Given the description of an element on the screen output the (x, y) to click on. 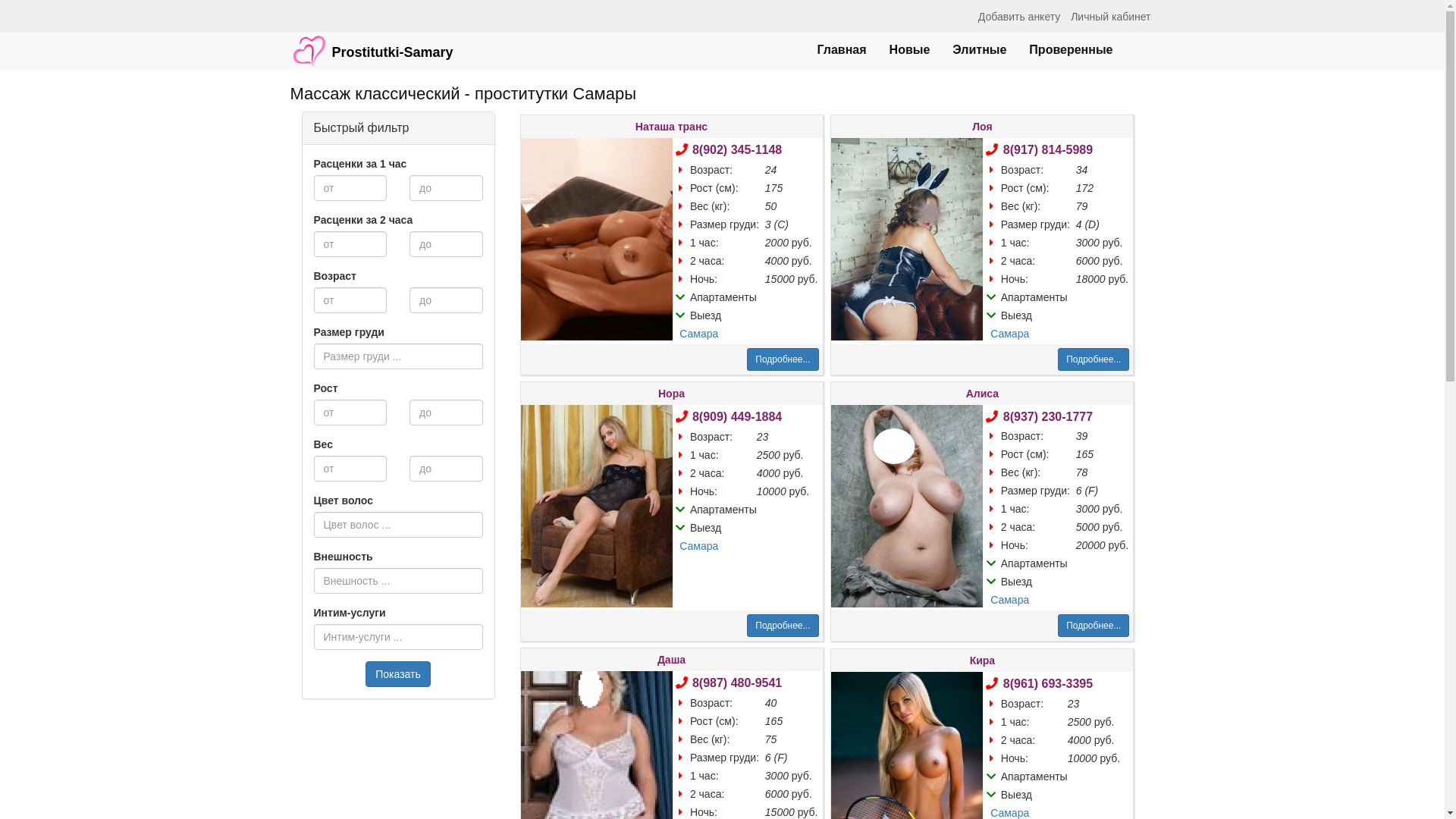
Prostitutki-Samary Element type: text (371, 43)
